Given the description of an element on the screen output the (x, y) to click on. 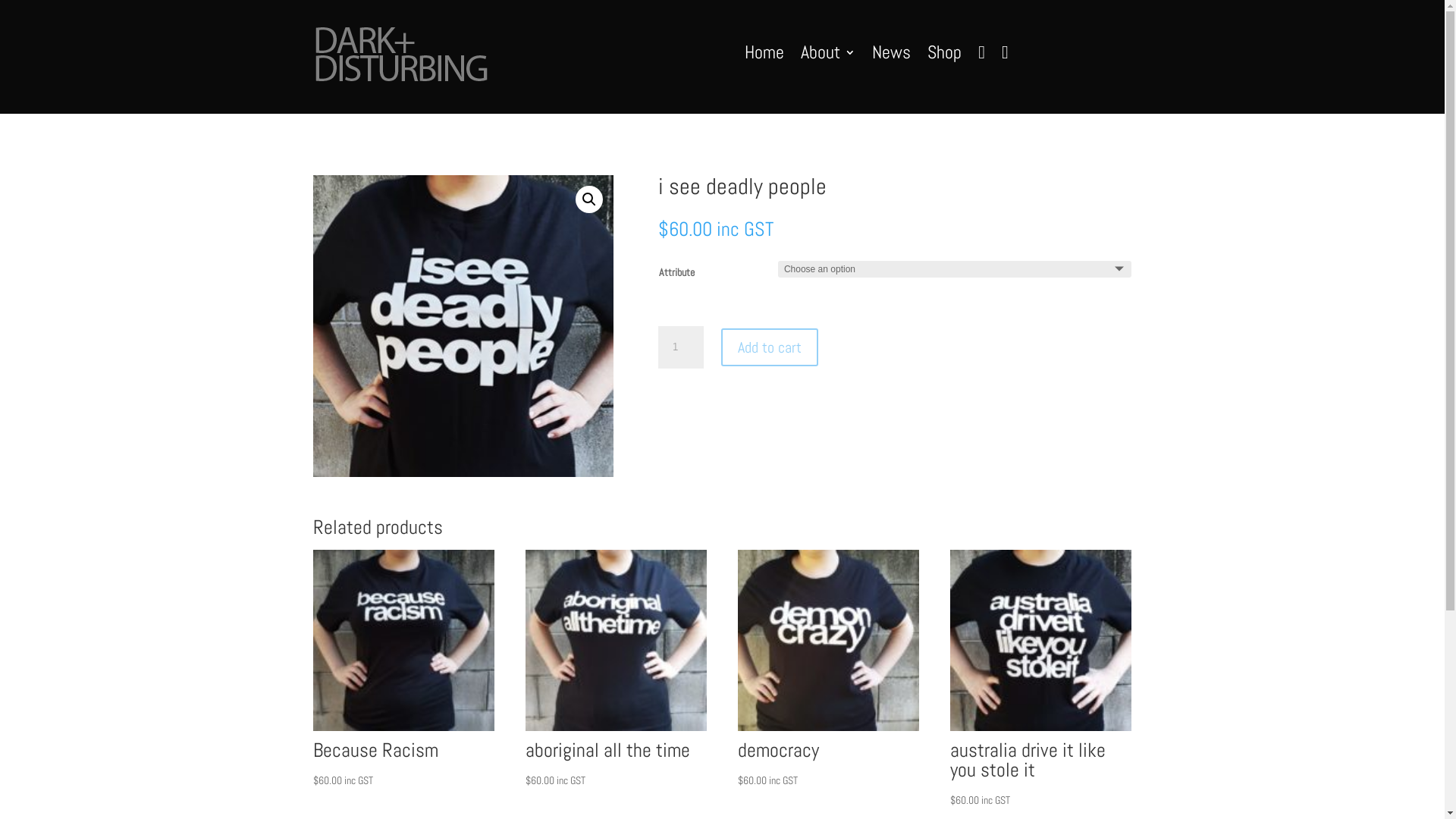
Home Element type: text (764, 55)
Because Racism
$60.00 inc GST Element type: text (402, 669)
aboriginal all the time
$60.00 inc GST Element type: text (615, 669)
Shop Element type: text (944, 55)
Add to cart Element type: text (769, 347)
About Element type: text (827, 55)
democracy
$60.00 inc GST Element type: text (828, 669)
dark-postcard-logo Element type: hover (399, 56)
Qty Element type: hover (680, 347)
News Element type: text (891, 55)
i see deadly people Element type: hover (462, 325)
australia drive it like you stole it
$60.00 inc GST Element type: text (1040, 679)
